Given the description of an element on the screen output the (x, y) to click on. 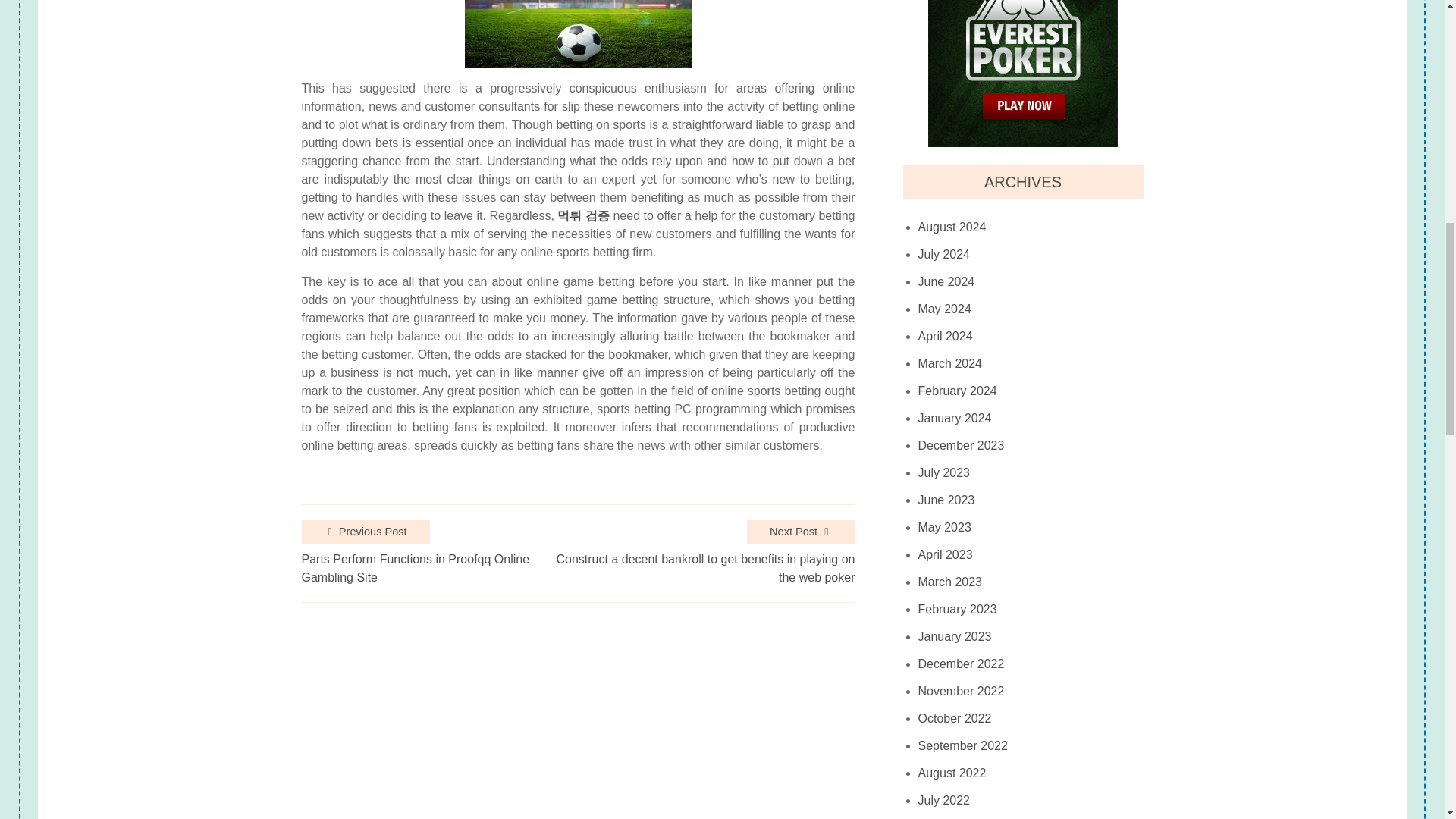
February 2024 (957, 390)
August 2024 (952, 226)
Previous Post (365, 532)
July 2024 (944, 254)
April 2023 (945, 554)
July 2023 (944, 472)
May 2023 (944, 527)
January 2024 (954, 418)
February 2023 (957, 609)
May 2024 (944, 308)
